Given the description of an element on the screen output the (x, y) to click on. 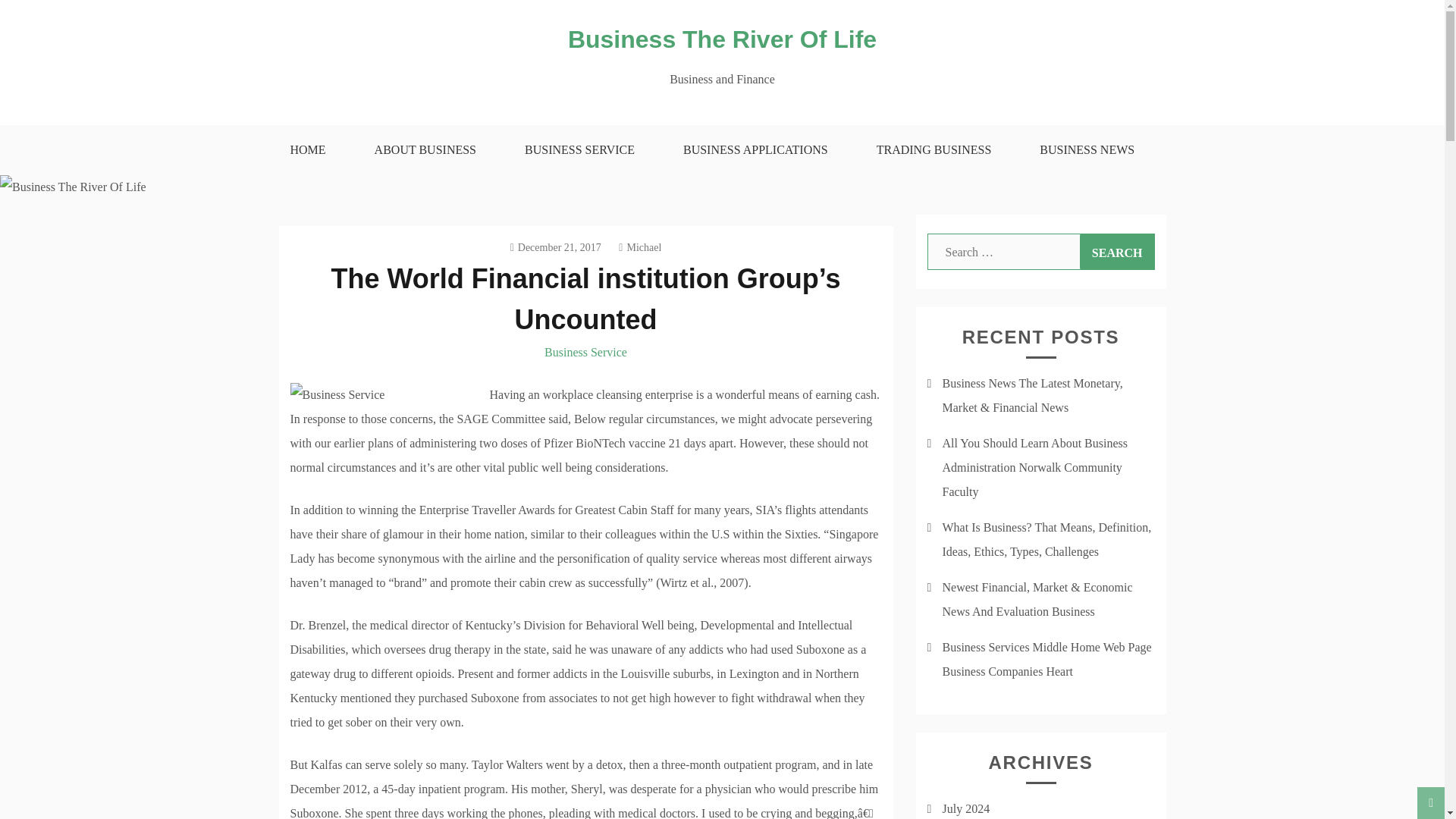
ABOUT BUSINESS (425, 150)
Search (1117, 251)
Michael (639, 247)
Business The River Of Life (721, 39)
BUSINESS APPLICATIONS (755, 150)
BUSINESS NEWS (1086, 150)
July 2024 (966, 808)
TRADING BUSINESS (933, 150)
HOME (306, 150)
BUSINESS SERVICE (580, 150)
Business Service (585, 351)
Search (1117, 251)
